Given the description of an element on the screen output the (x, y) to click on. 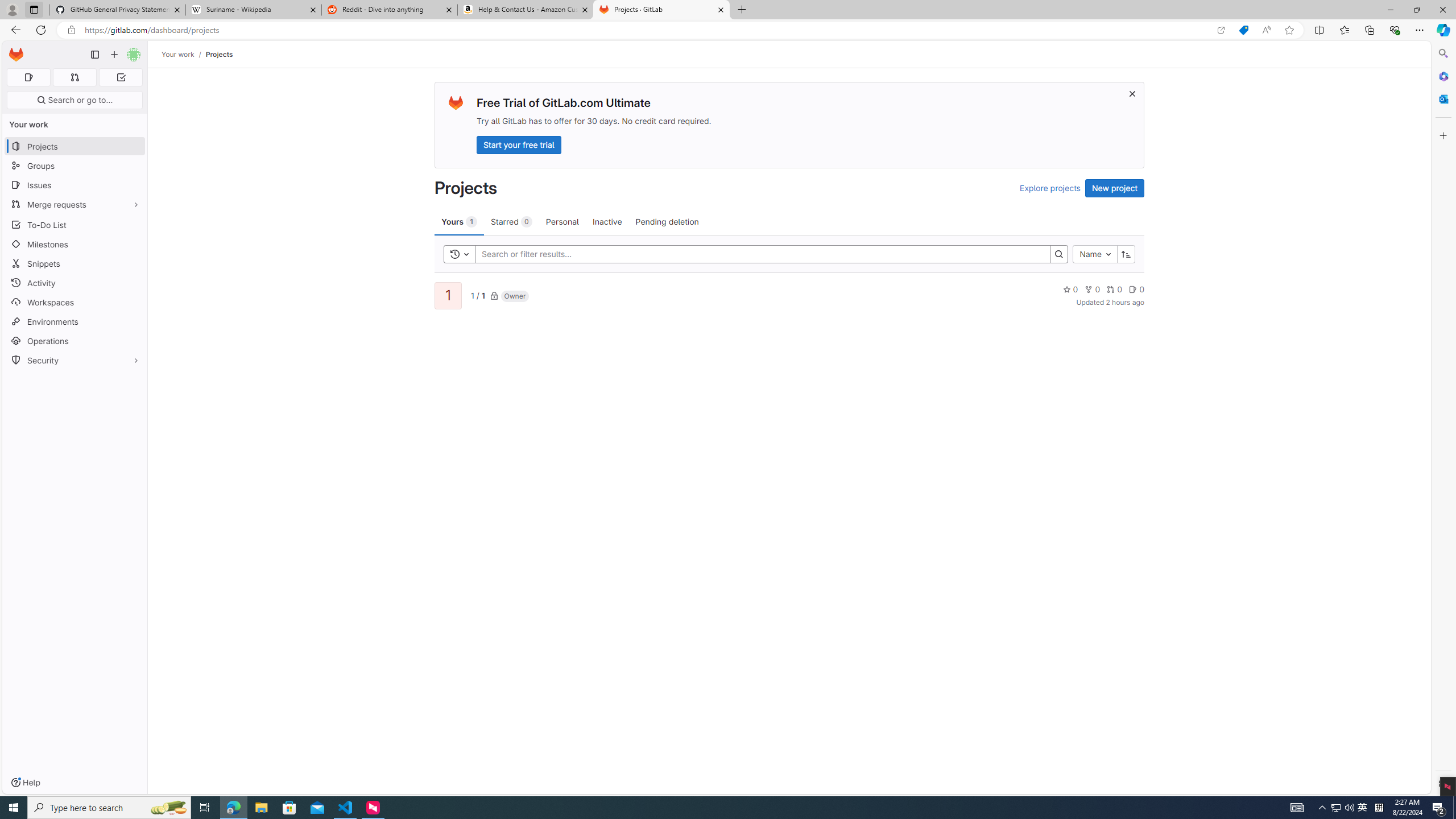
Dismiss trial promotion (1131, 93)
To-Do list 0 (120, 76)
Merge requests 0 (74, 76)
Groups (74, 165)
Name (1095, 253)
Starred 0 (510, 221)
To-Do List (74, 224)
